Given the description of an element on the screen output the (x, y) to click on. 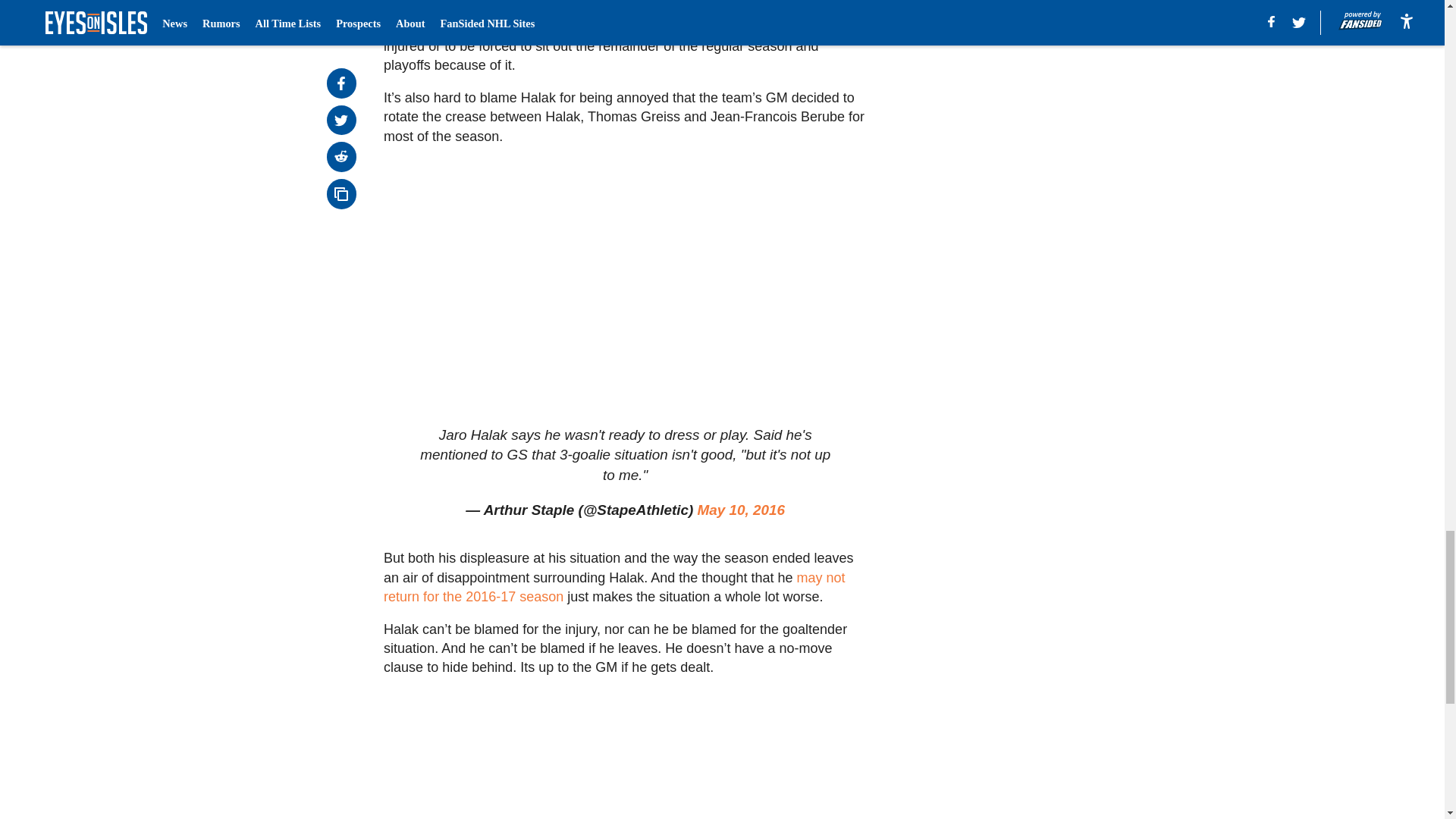
May 10, 2016 (741, 509)
may not return for the 2016-17 season (614, 587)
shoot themselves in the foot (470, 27)
